Given the description of an element on the screen output the (x, y) to click on. 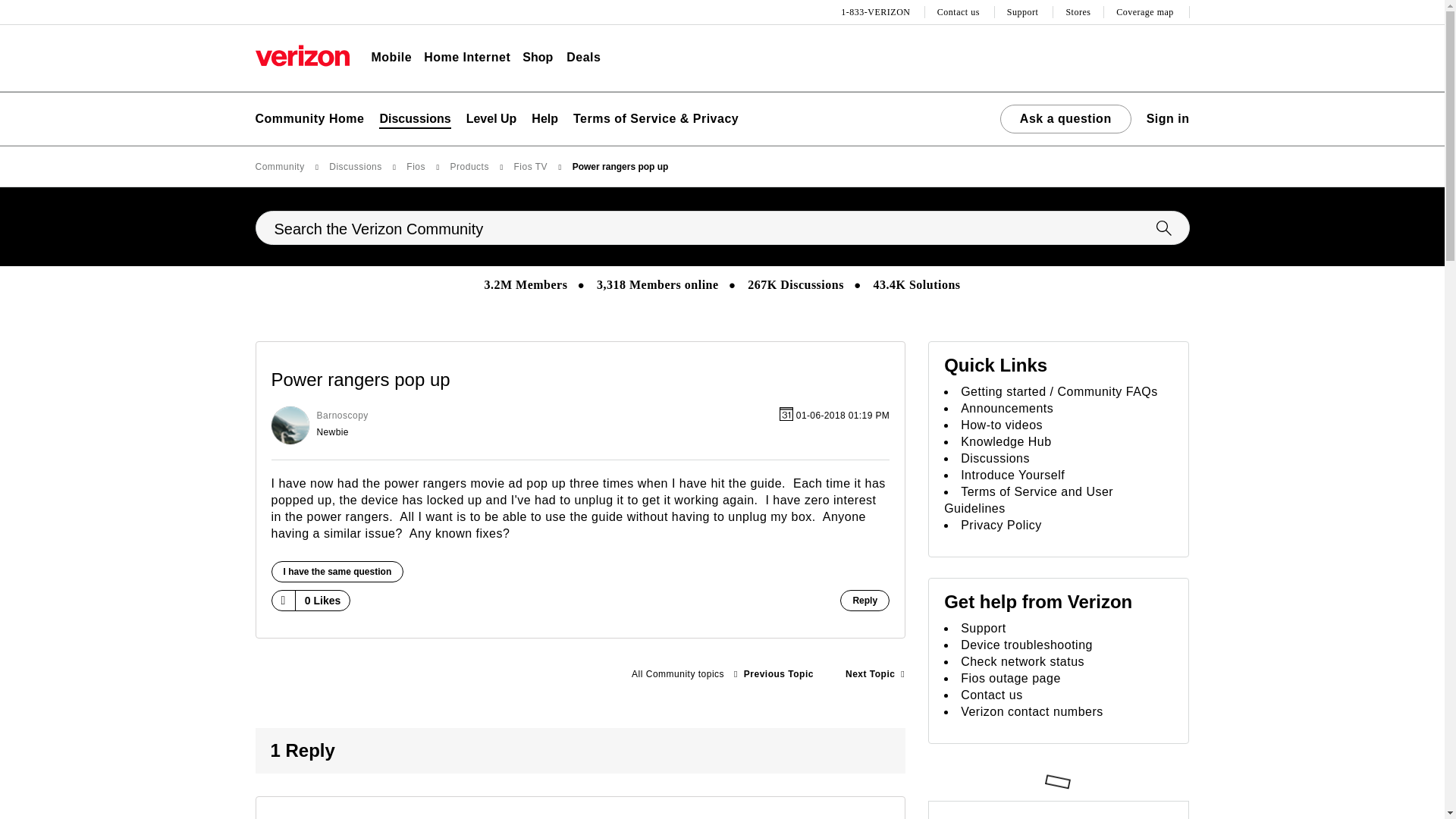
Mobile (391, 57)
Barnoscopy (289, 425)
Search (721, 227)
Stores (1078, 12)
Cancelling NFL RedZone (874, 673)
Fios TV (677, 673)
Click here to give likes to this post. (282, 600)
Home Internet (467, 57)
Verizon Home Page (301, 55)
Coverage map (1146, 12)
